Given the description of an element on the screen output the (x, y) to click on. 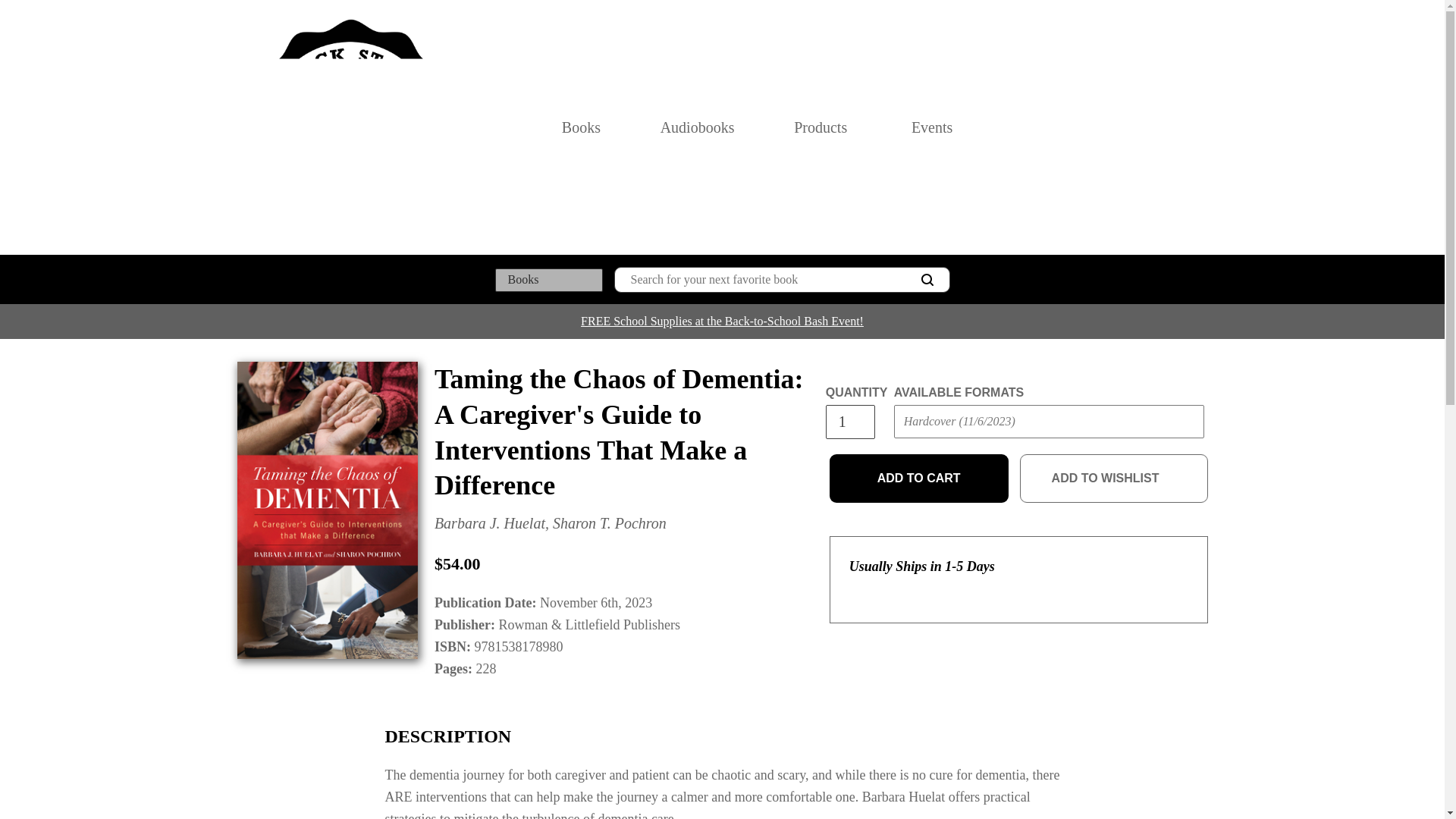
SEARCH (926, 279)
Log in (1134, 127)
Wishlists (1168, 127)
Sharon T. Pochron (609, 523)
Add to cart (919, 478)
1 (850, 421)
Wishlist (1168, 127)
Submit (922, 452)
FREE School Supplies at the Back-to-School Bash Event! (721, 320)
ADD TO WISHLIST (1114, 478)
